Given the description of an element on the screen output the (x, y) to click on. 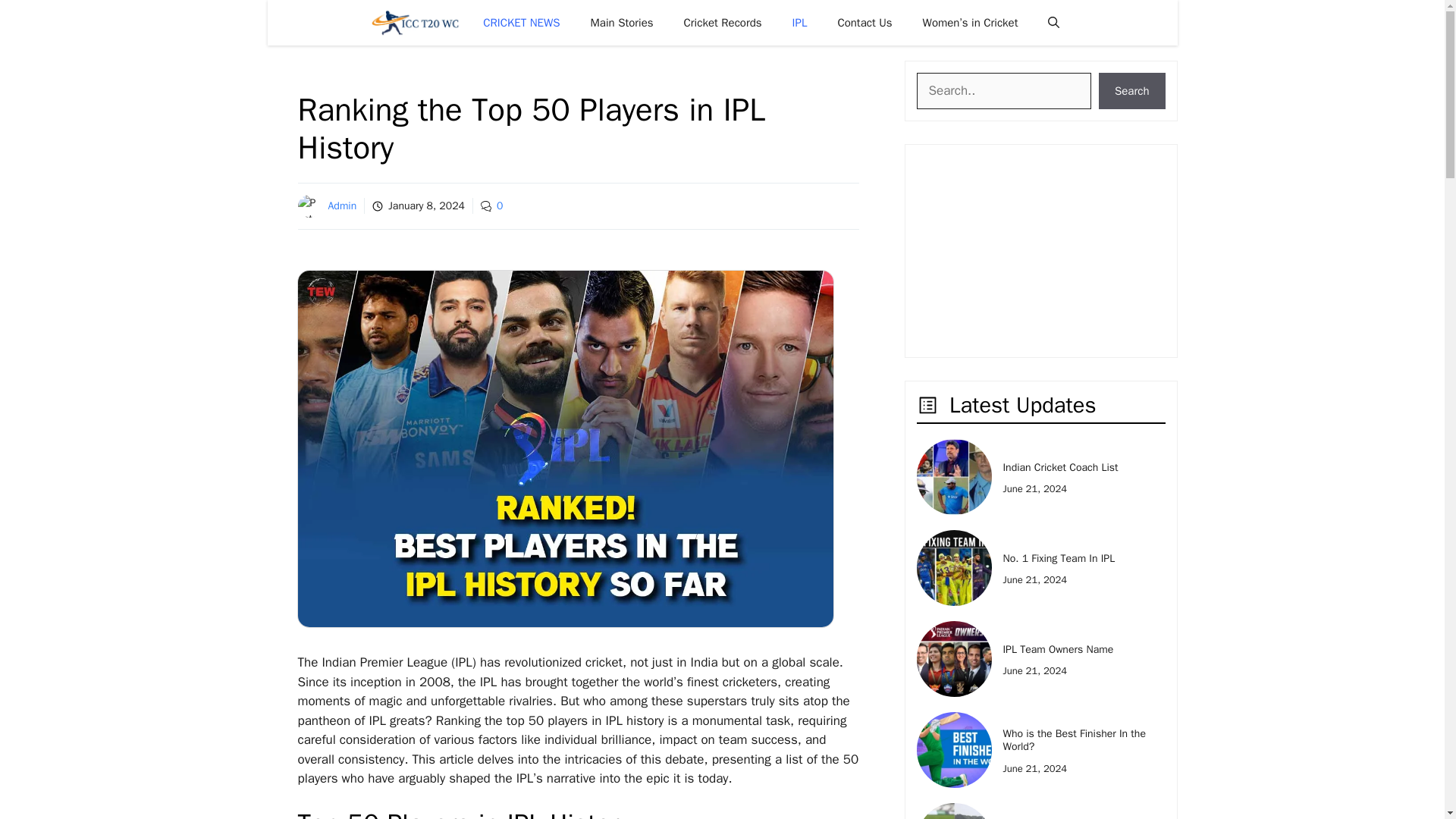
Indian Cricket Coach List (1060, 467)
Contact Us (864, 22)
Cricket Records (722, 22)
Search (1132, 90)
Advertisement (1037, 250)
Admin (341, 205)
Main Stories (621, 22)
CRICKET NEWS (521, 22)
IPL (799, 22)
No. 1 Fixing Team In IPL (1059, 558)
ICCT20WC2024 (415, 22)
